Given the description of an element on the screen output the (x, y) to click on. 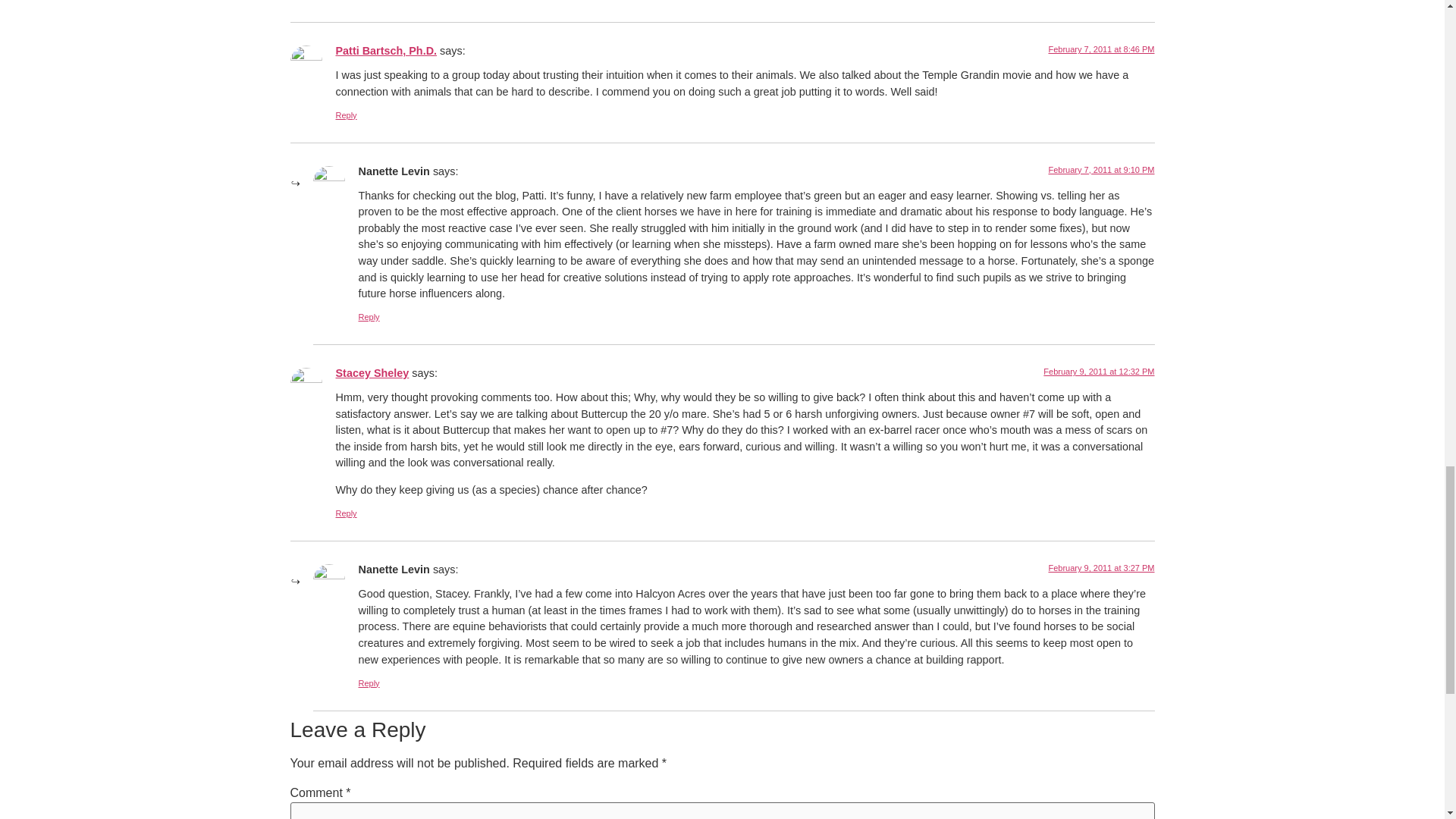
Reply (368, 682)
Patti Bartsch, Ph.D. (385, 50)
February 9, 2011 at 3:27 PM (1101, 567)
Reply (345, 512)
February 7, 2011 at 9:10 PM (1101, 169)
Reply (368, 316)
Reply (345, 114)
February 7, 2011 at 8:46 PM (1101, 49)
February 9, 2011 at 12:32 PM (1098, 370)
Stacey Sheley (371, 372)
